Given the description of an element on the screen output the (x, y) to click on. 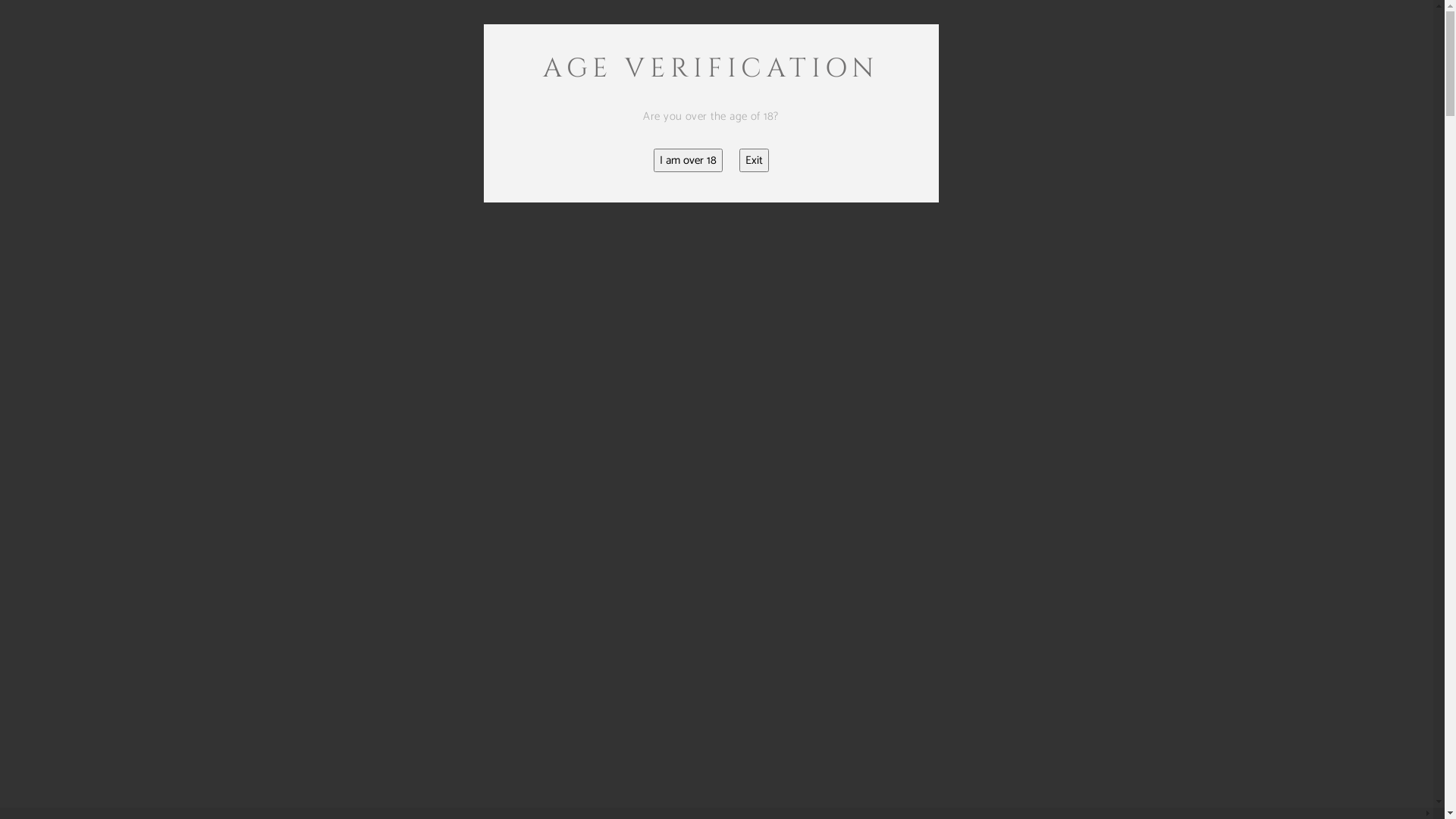
Exit Element type: text (753, 160)
I am over 18 Element type: text (687, 160)
